Given the description of an element on the screen output the (x, y) to click on. 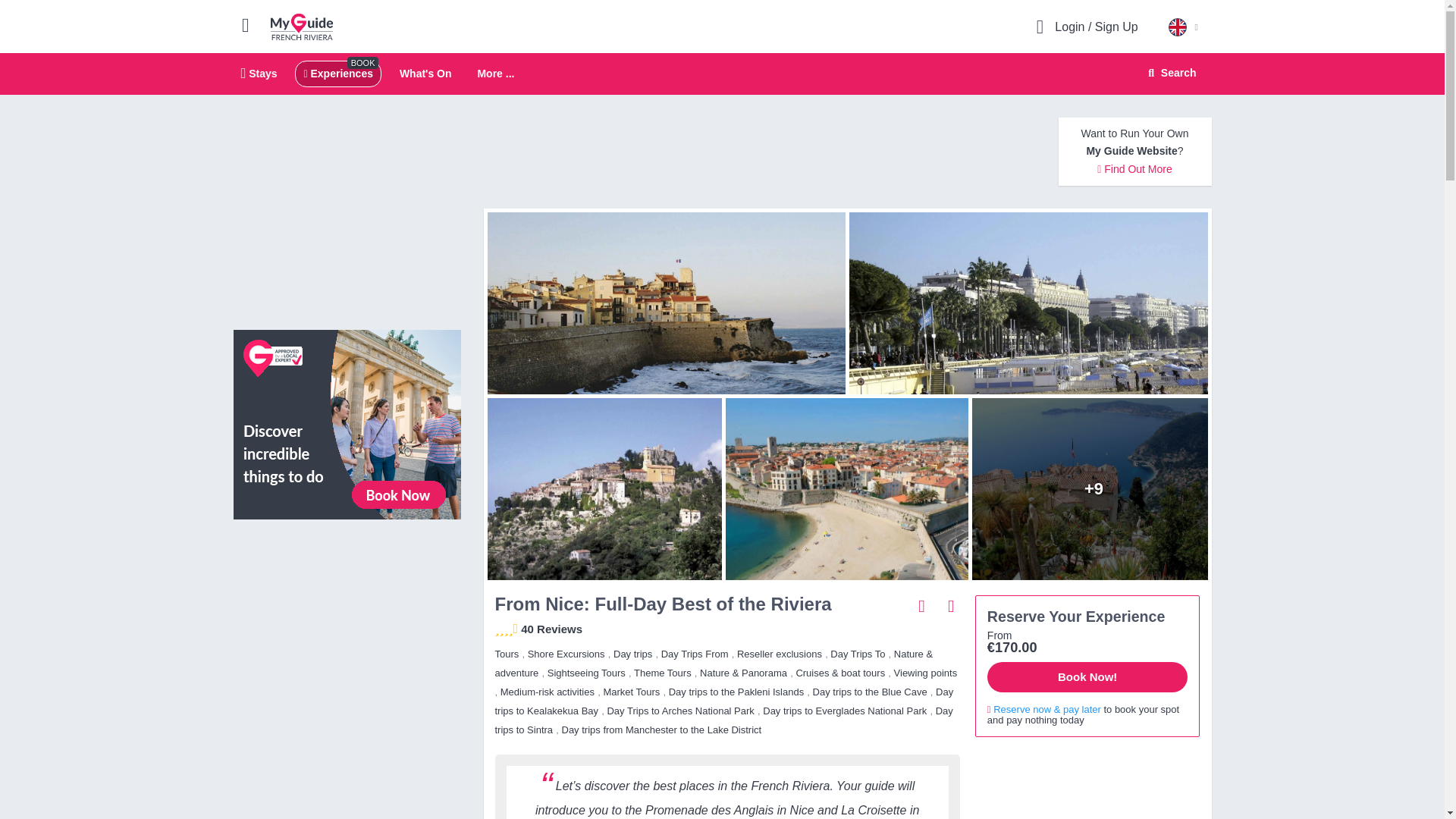
More ... (495, 73)
GetYourGuide Widget (346, 599)
GetYourGuide Widget (1087, 783)
From Nice: Full-Day Best of the Riviera (662, 302)
Stays (259, 73)
From Nice: Full-Day Best of the Riviera (721, 74)
From Nice: Full-Day Best of the Riviera (1093, 488)
From Nice: Full-Day Best of the Riviera (600, 488)
My Guide French Riviera (846, 488)
From Nice: Full-Day Best of the Riviera (301, 25)
Experiences (1031, 302)
Search (337, 73)
What's On (1169, 72)
